Given the description of an element on the screen output the (x, y) to click on. 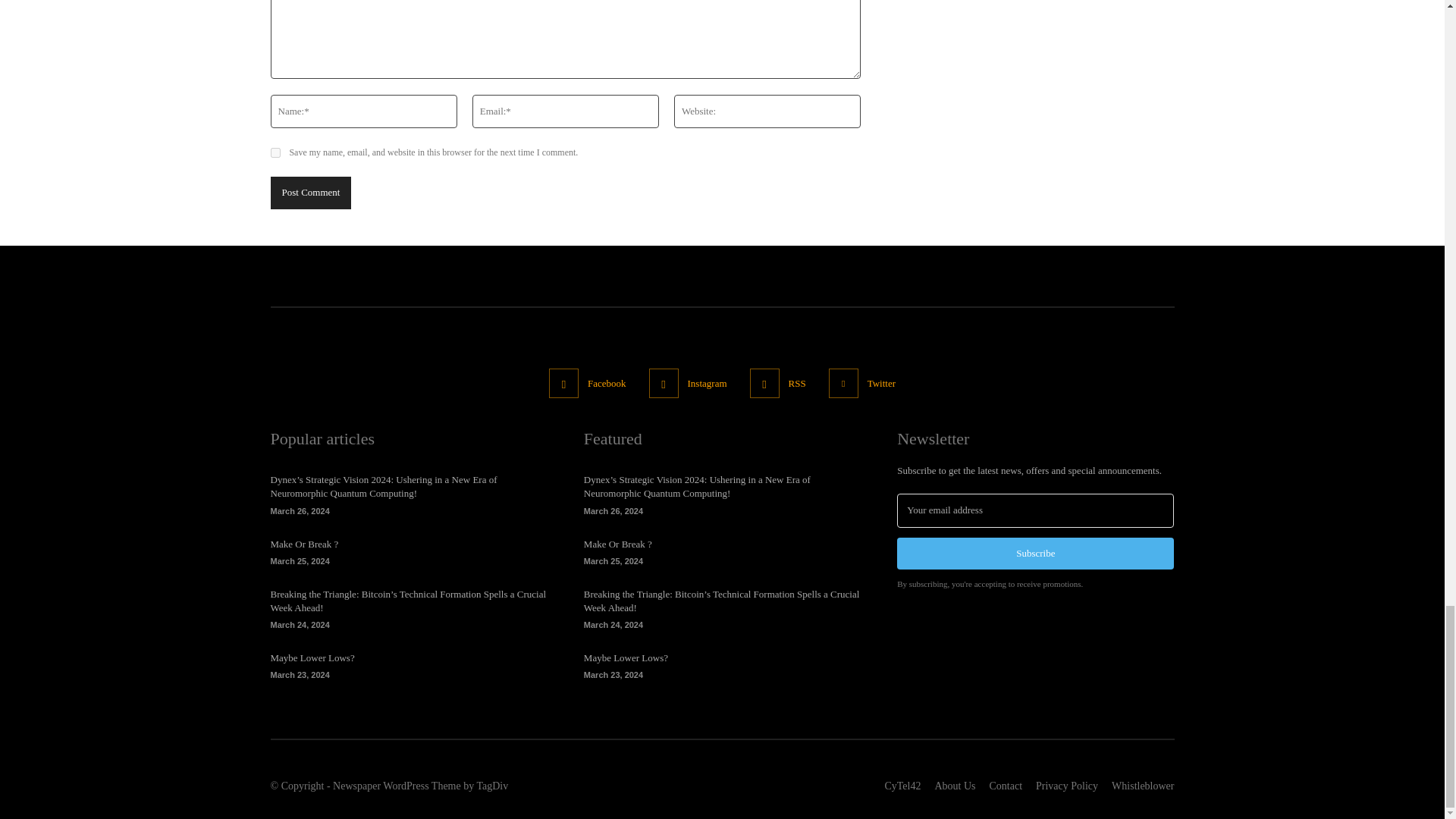
Post Comment (309, 192)
yes (274, 153)
